Given the description of an element on the screen output the (x, y) to click on. 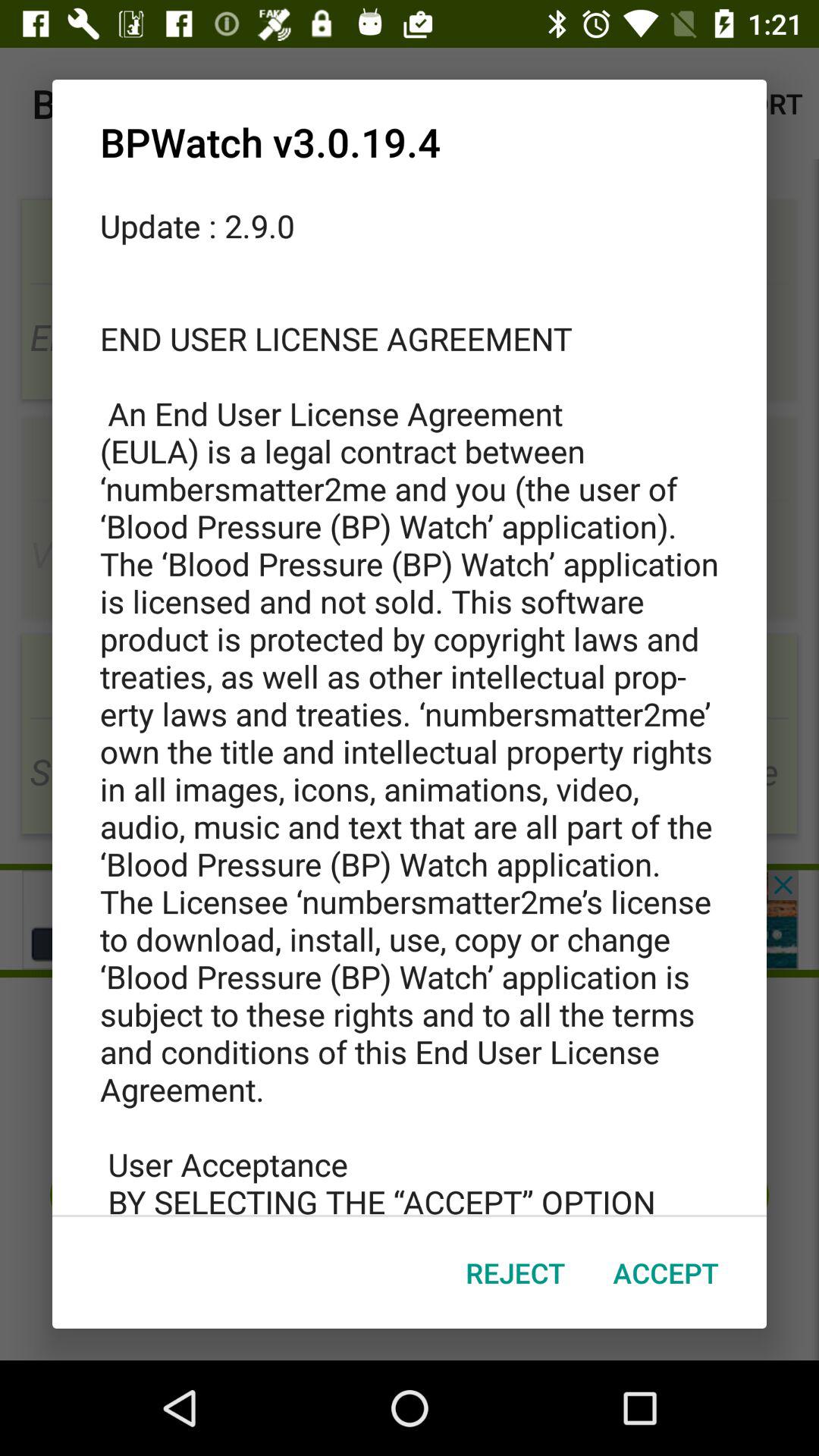
turn on the item below the update 2 9 icon (515, 1272)
